Given the description of an element on the screen output the (x, y) to click on. 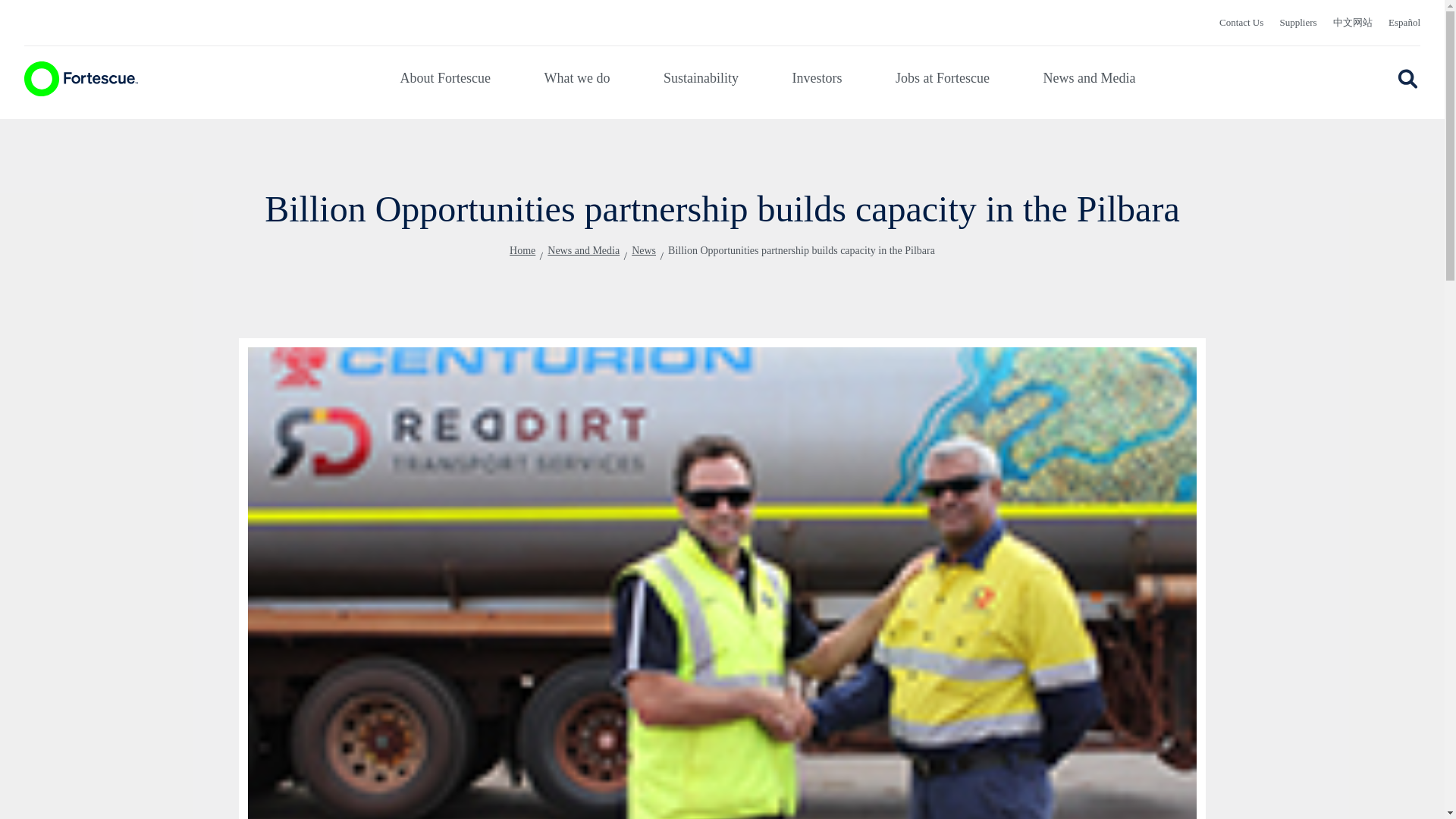
About Fortescue (445, 77)
Investors (816, 77)
Sustainability (700, 77)
Jobs at Fortescue (942, 77)
Suppliers (1297, 25)
What we do (577, 77)
Contact Us (1241, 25)
News and Media (1089, 77)
